Given the description of an element on the screen output the (x, y) to click on. 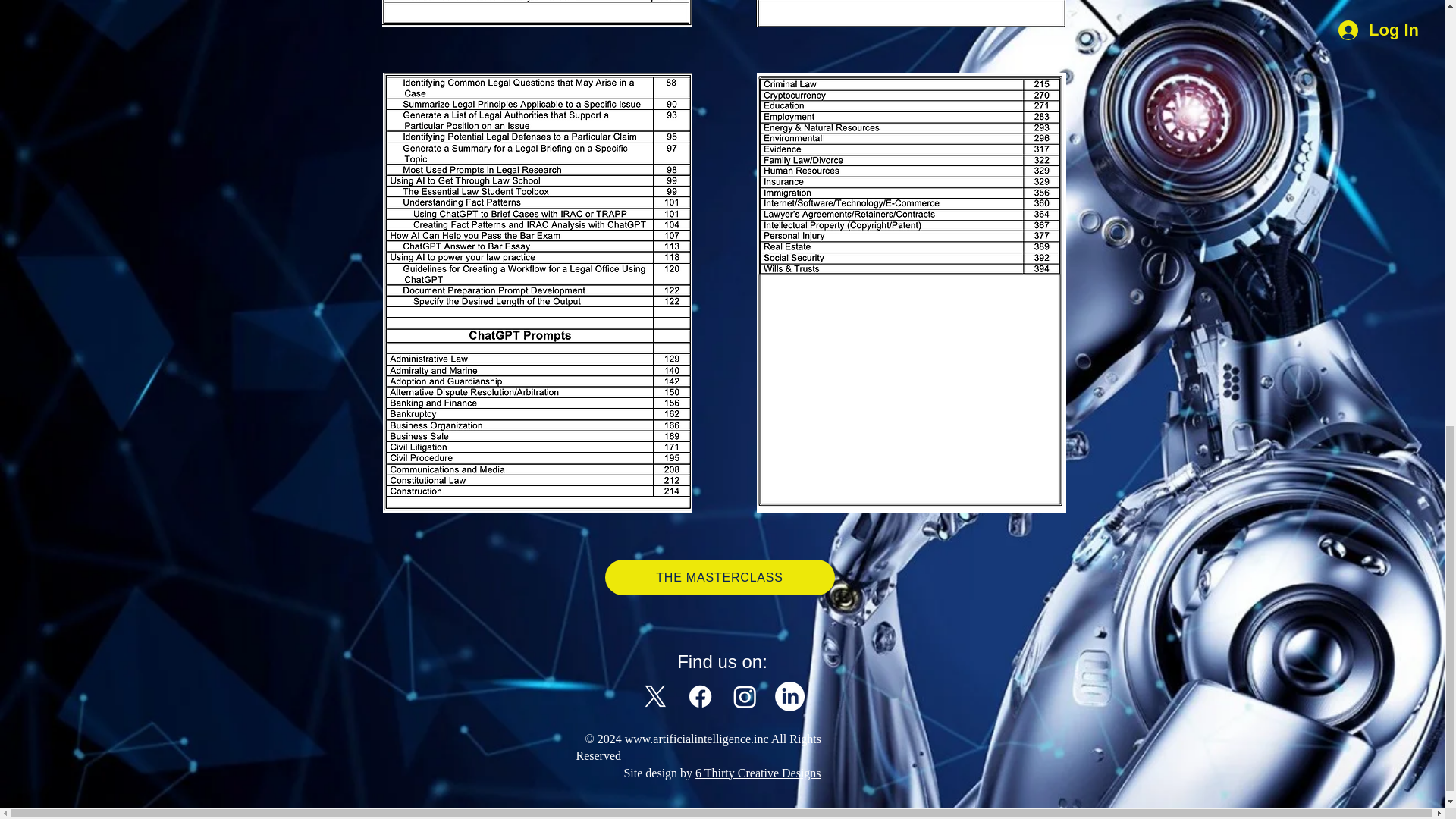
6 Thirty Creative Designs (758, 772)
THE MASTERCLASS (719, 577)
www.artificialintelligence.inc (696, 738)
